Given the description of an element on the screen output the (x, y) to click on. 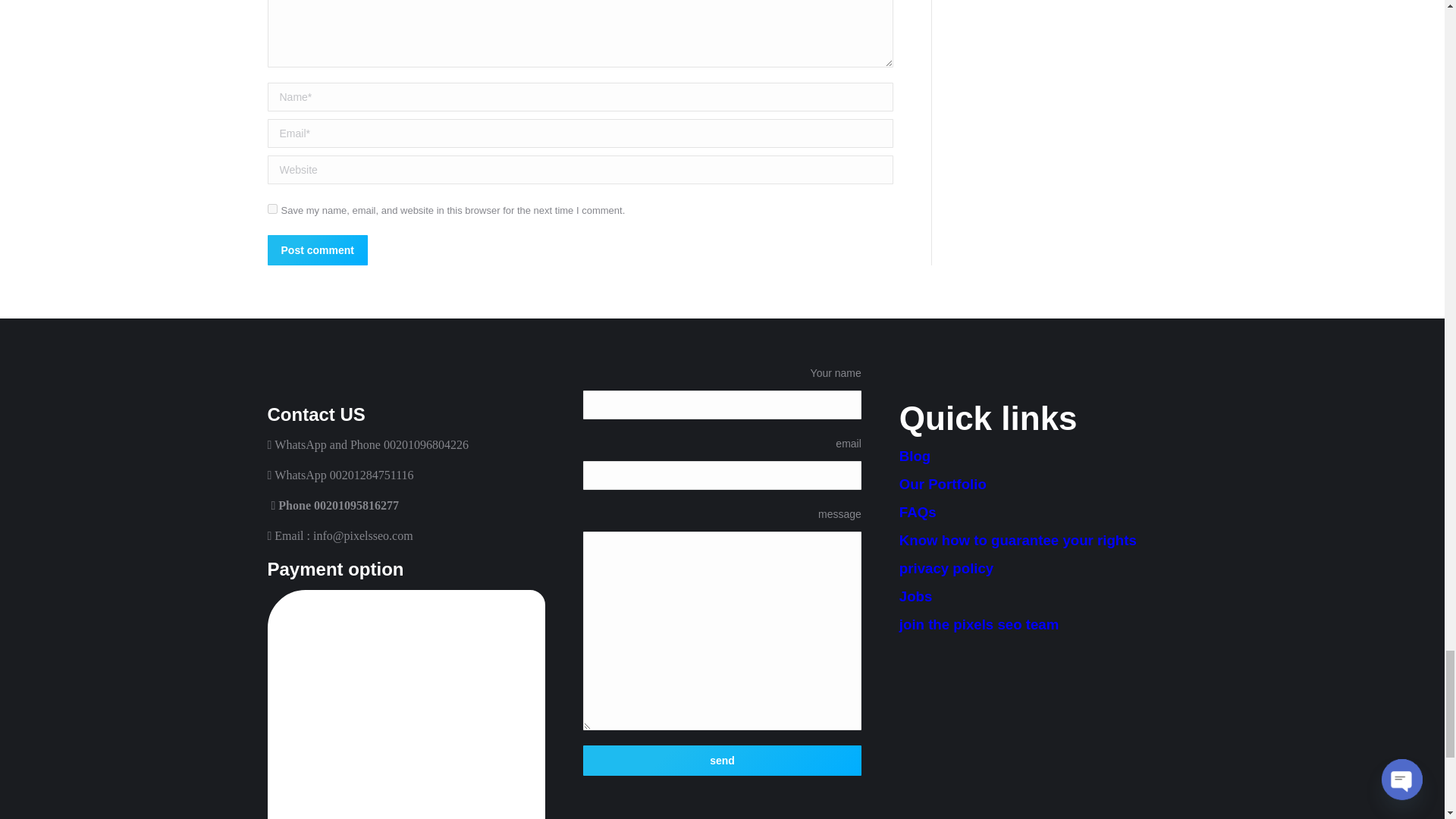
yes (271, 208)
send (722, 760)
